Given the description of an element on the screen output the (x, y) to click on. 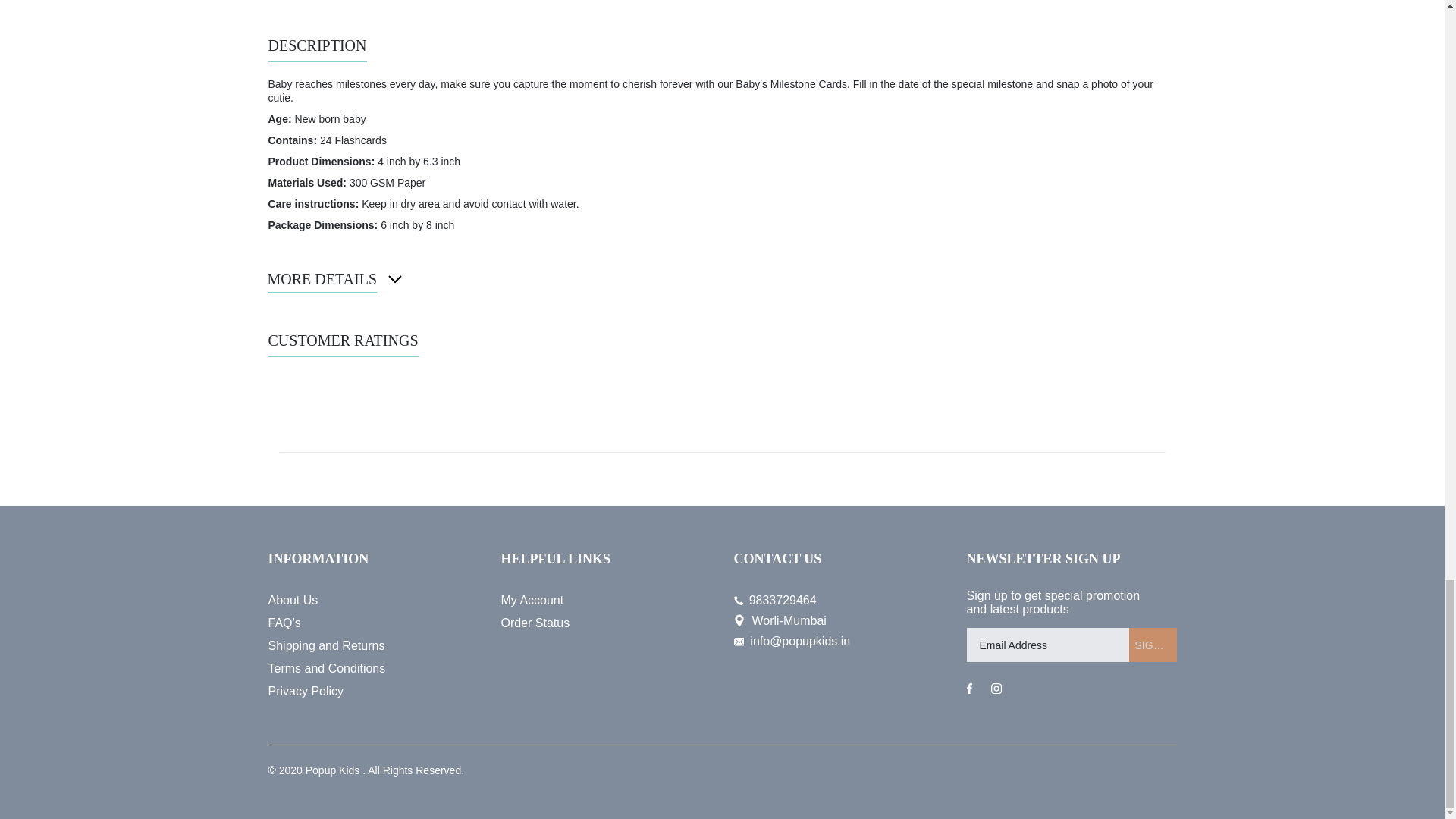
Sign up (1152, 644)
Terms and Conditions (373, 668)
My Account (605, 599)
Privacy Policy (373, 691)
 Shipping and Returns (373, 645)
About Us (373, 599)
Order Status (605, 622)
